Given the description of an element on the screen output the (x, y) to click on. 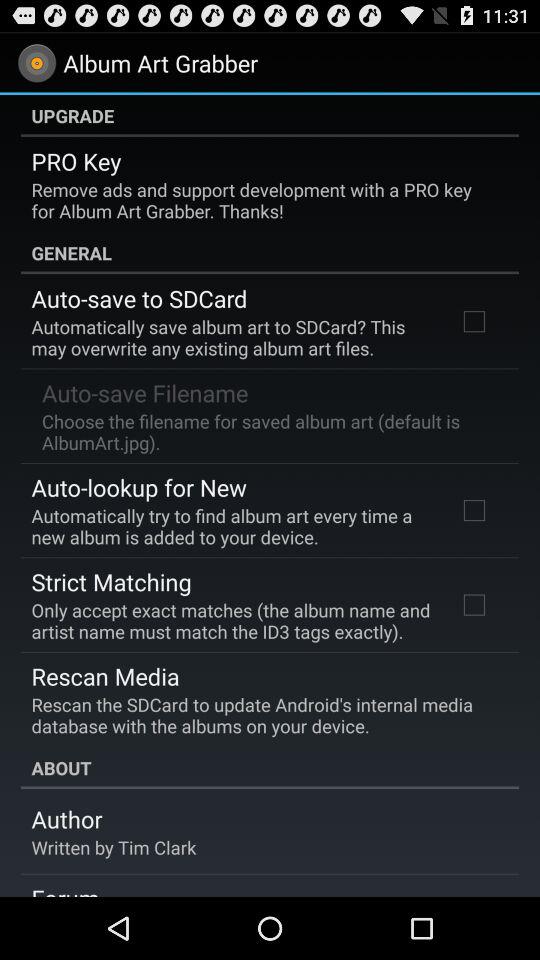
choose the item below about item (66, 819)
